Given the description of an element on the screen output the (x, y) to click on. 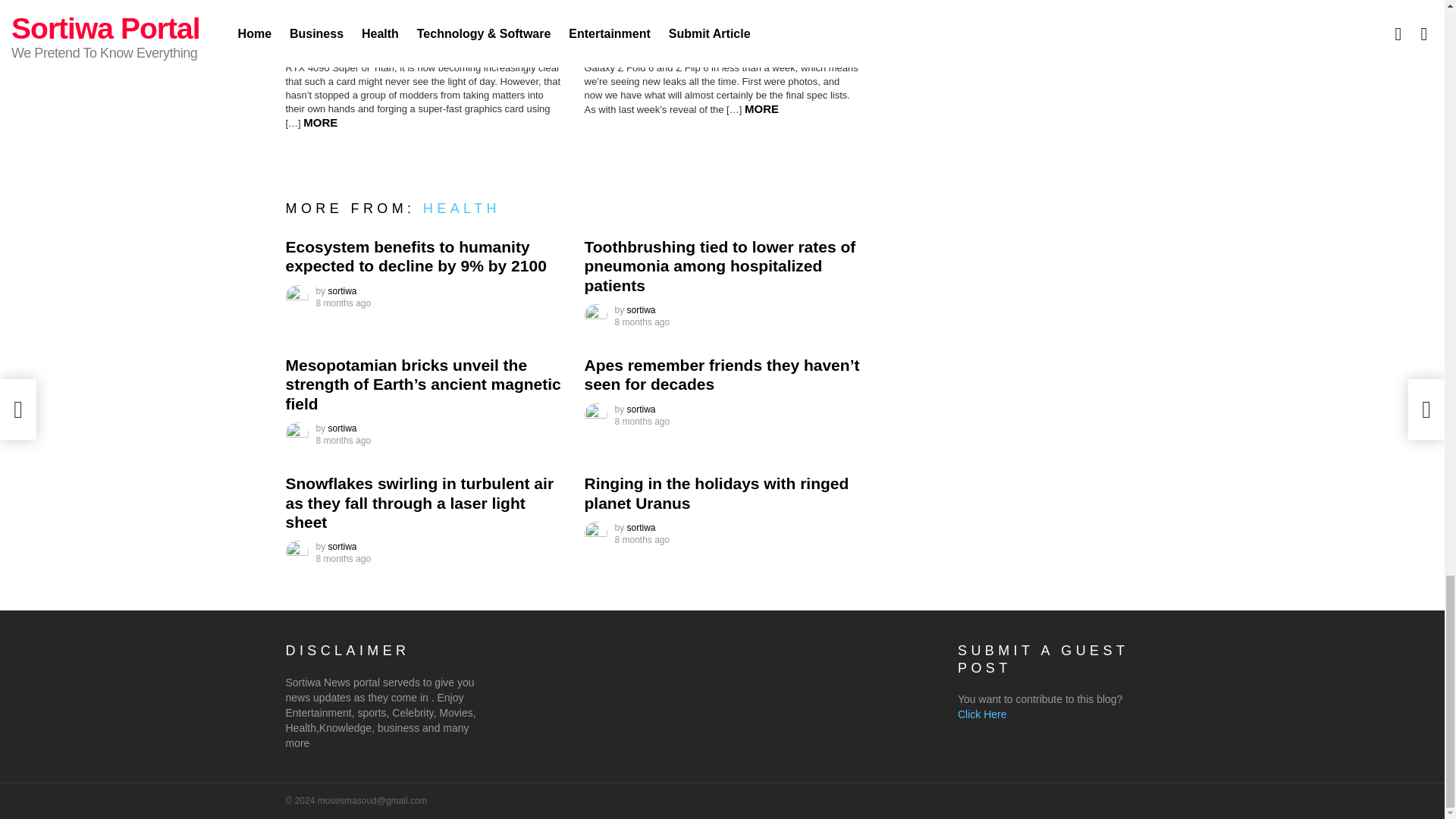
December 20, 2023, 5:56 am (343, 440)
December 20, 2023, 4:54 am (641, 421)
December 20, 2023, 6:57 am (641, 322)
Posts by sortiwa (641, 309)
December 20, 2023, 7:57 am (343, 303)
Posts by sortiwa (641, 409)
December 20, 2023, 3:53 am (343, 558)
Posts by sortiwa (342, 290)
Posts by sortiwa (342, 546)
December 20, 2023, 2:52 am (641, 539)
